Given the description of an element on the screen output the (x, y) to click on. 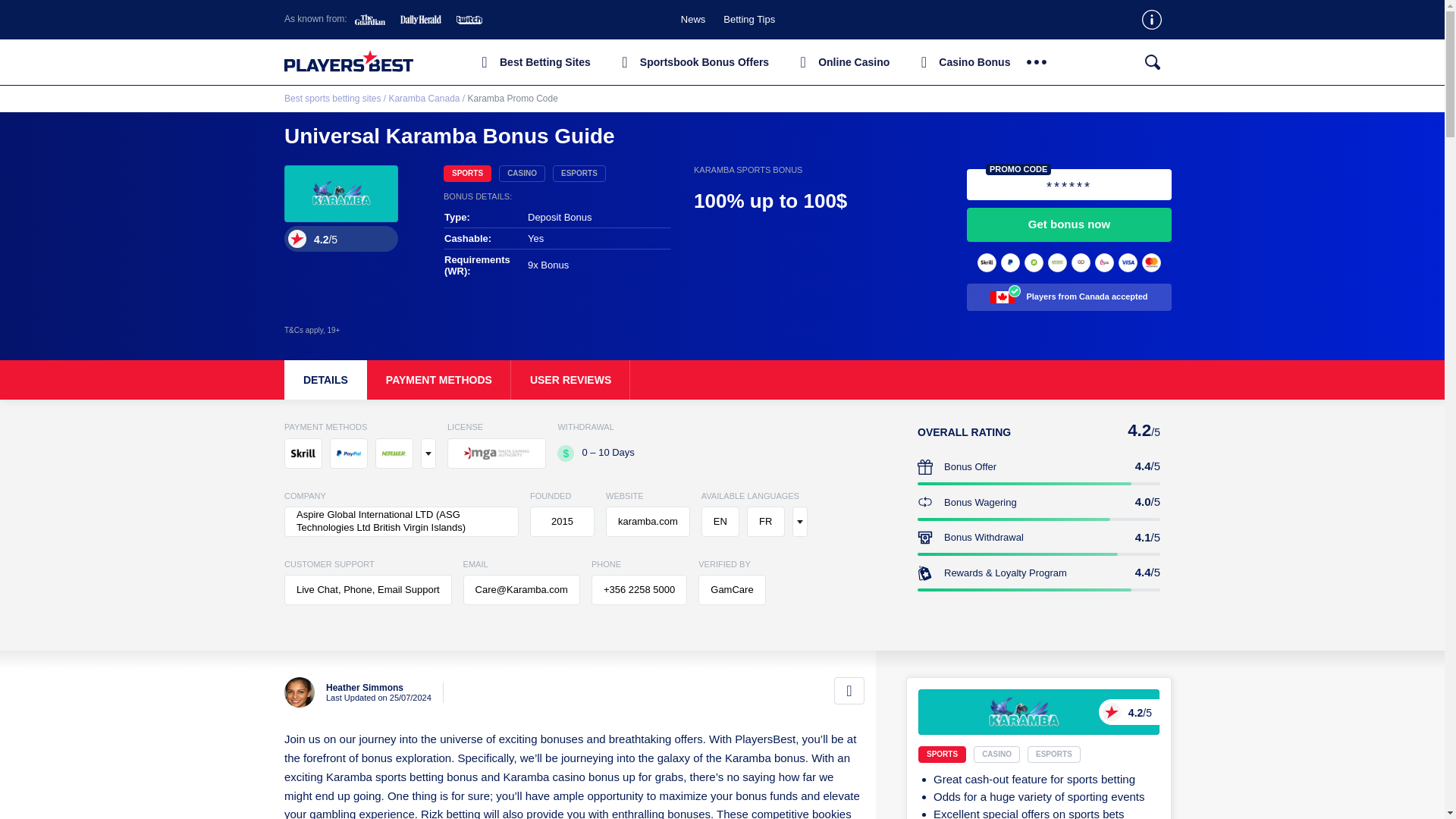
Best Betting Sites (999, 754)
Sportsbook Bonus Offers (531, 62)
Betting Tips (691, 62)
News (727, 379)
